Given the description of an element on the screen output the (x, y) to click on. 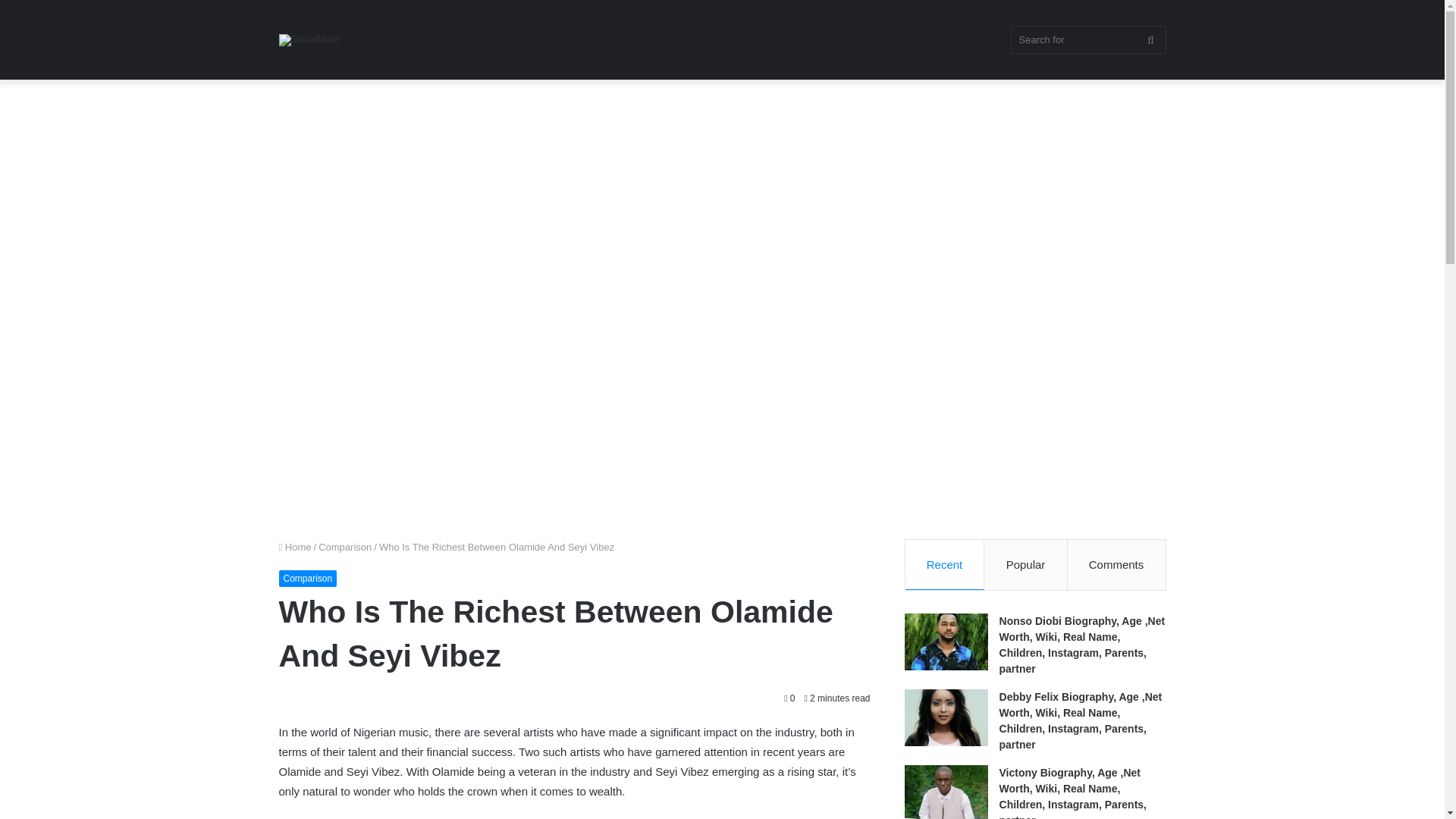
Search for (1088, 39)
Comparison (308, 578)
Comments (1116, 564)
Popular (1025, 564)
Home (295, 546)
SocialMate (309, 39)
Comparison (344, 546)
Recent (945, 564)
